Given the description of an element on the screen output the (x, y) to click on. 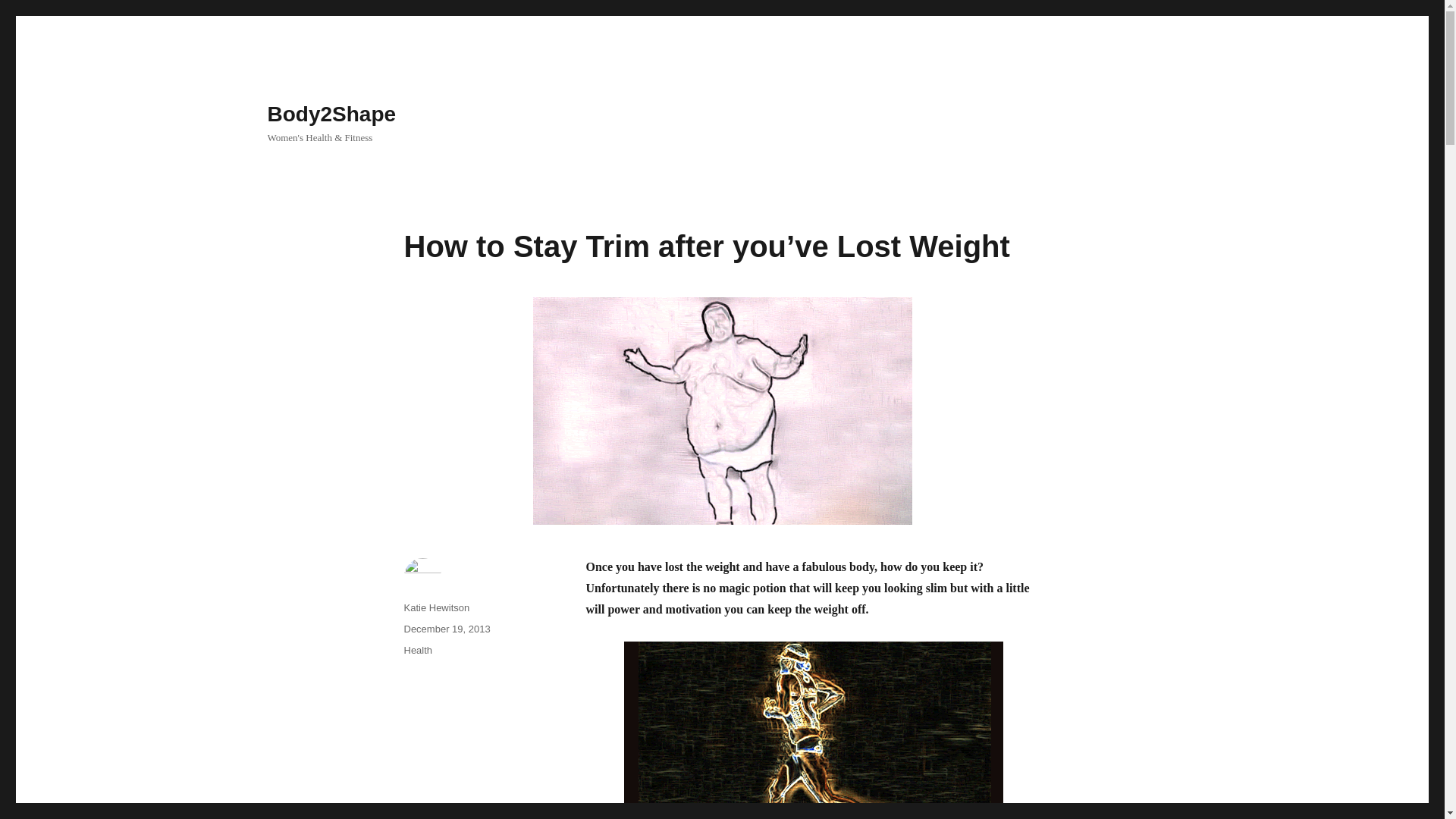
Katie Hewitson (435, 607)
December 19, 2013 (446, 628)
Health (417, 650)
Body2Shape (331, 114)
